Given the description of an element on the screen output the (x, y) to click on. 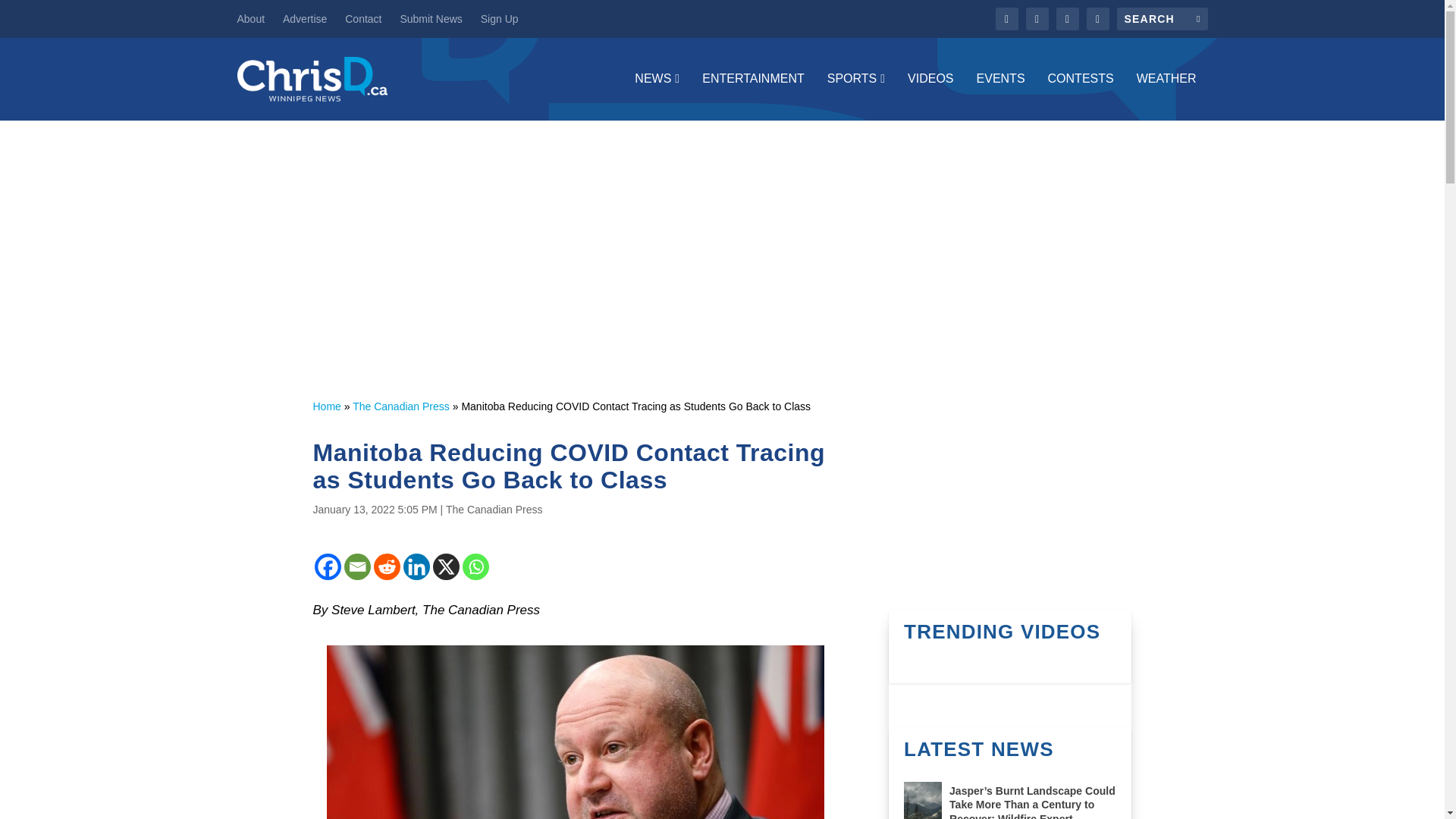
Home (326, 406)
VIDEOS (930, 96)
SPORTS (856, 96)
Email (357, 566)
NEWS (656, 96)
EVENTS (1000, 96)
Sign Up (499, 18)
ENTERTAINMENT (753, 96)
Contact (363, 18)
The Canadian Press (494, 509)
